Given the description of an element on the screen output the (x, y) to click on. 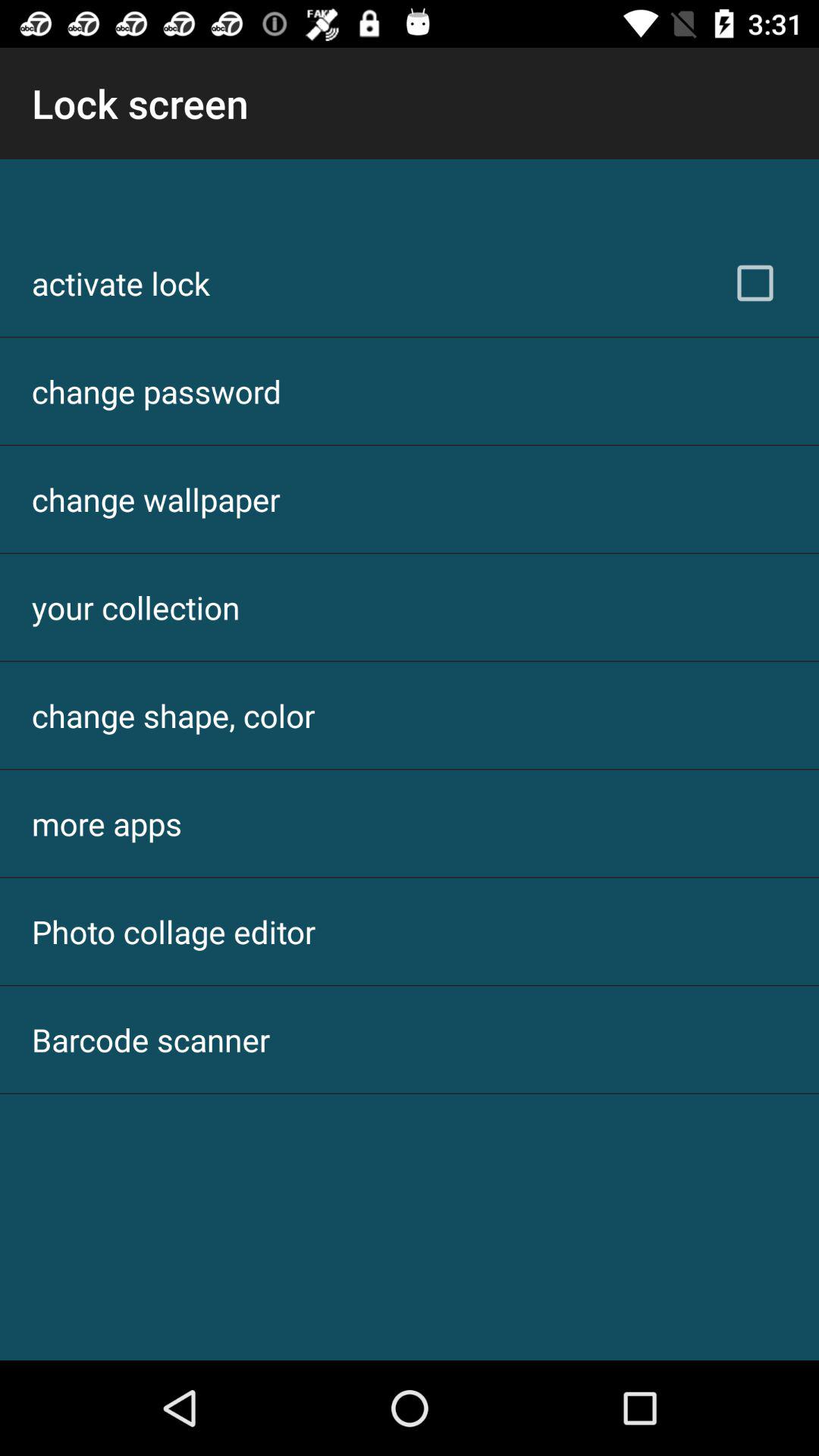
turn on change wallpaper (155, 498)
